Given the description of an element on the screen output the (x, y) to click on. 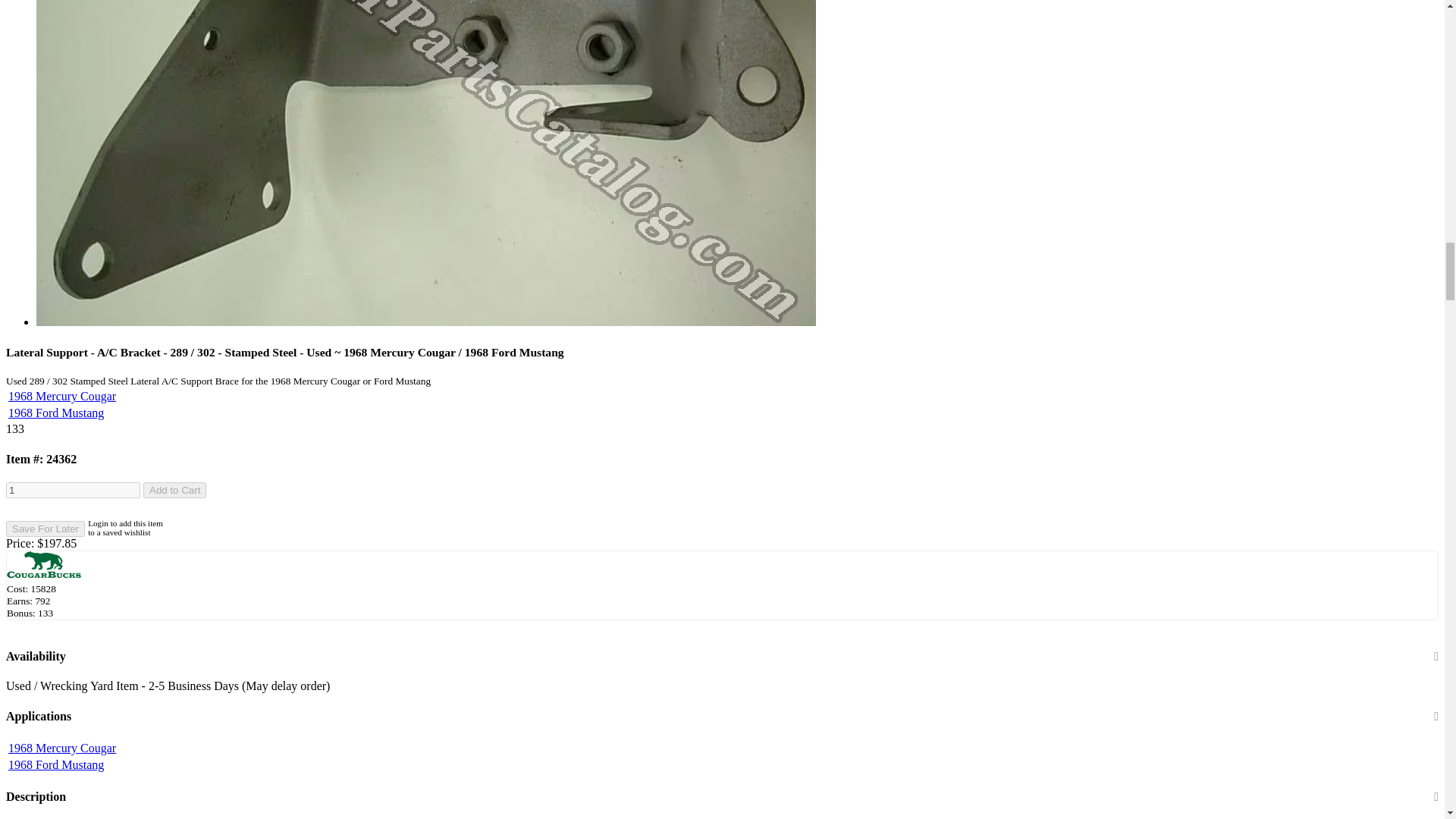
1 (72, 489)
Save For Later (44, 528)
Add to Cart (174, 489)
